Given the description of an element on the screen output the (x, y) to click on. 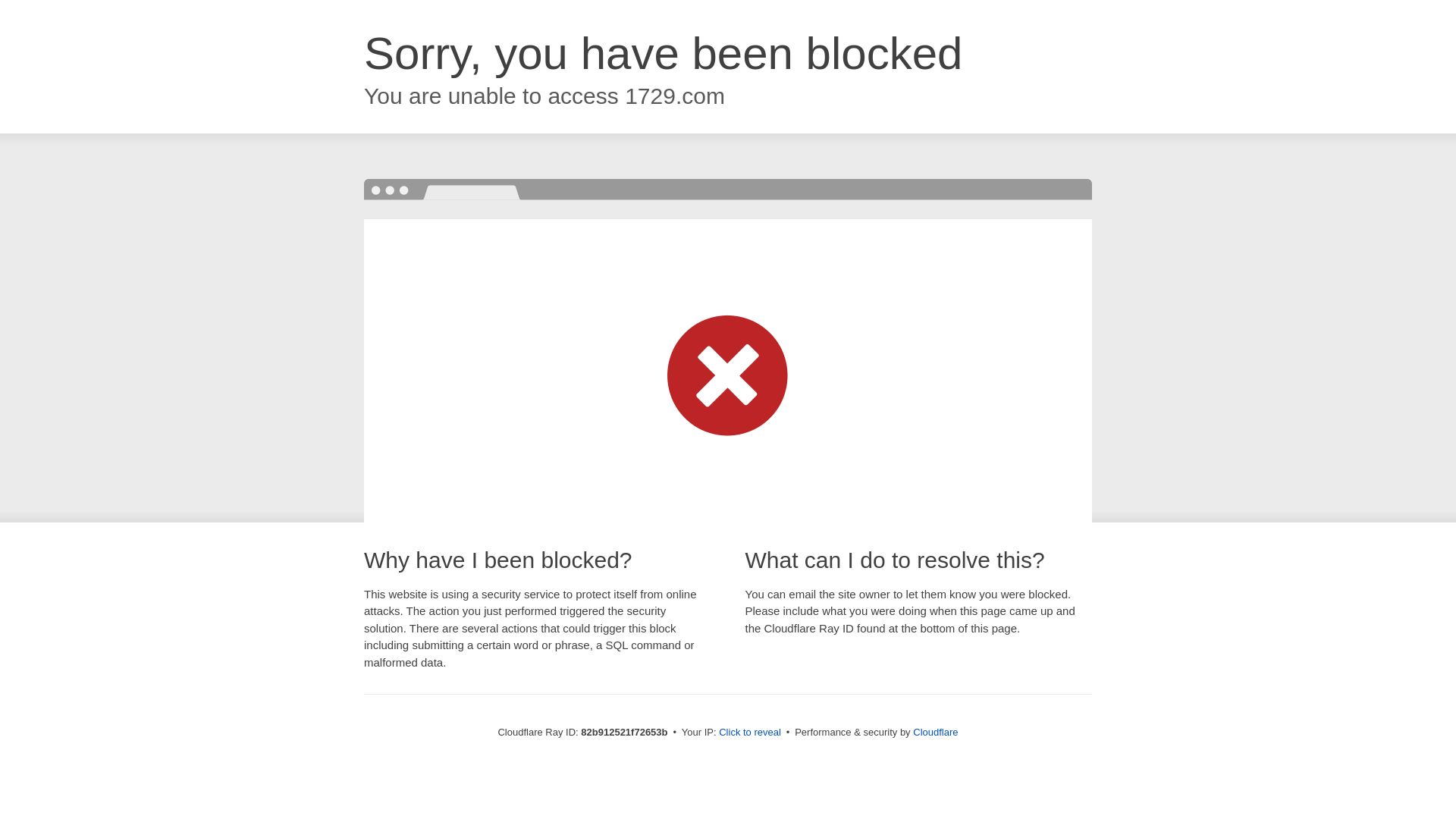
Click to reveal Element type: text (749, 732)
Cloudflare Element type: text (935, 731)
